Given the description of an element on the screen output the (x, y) to click on. 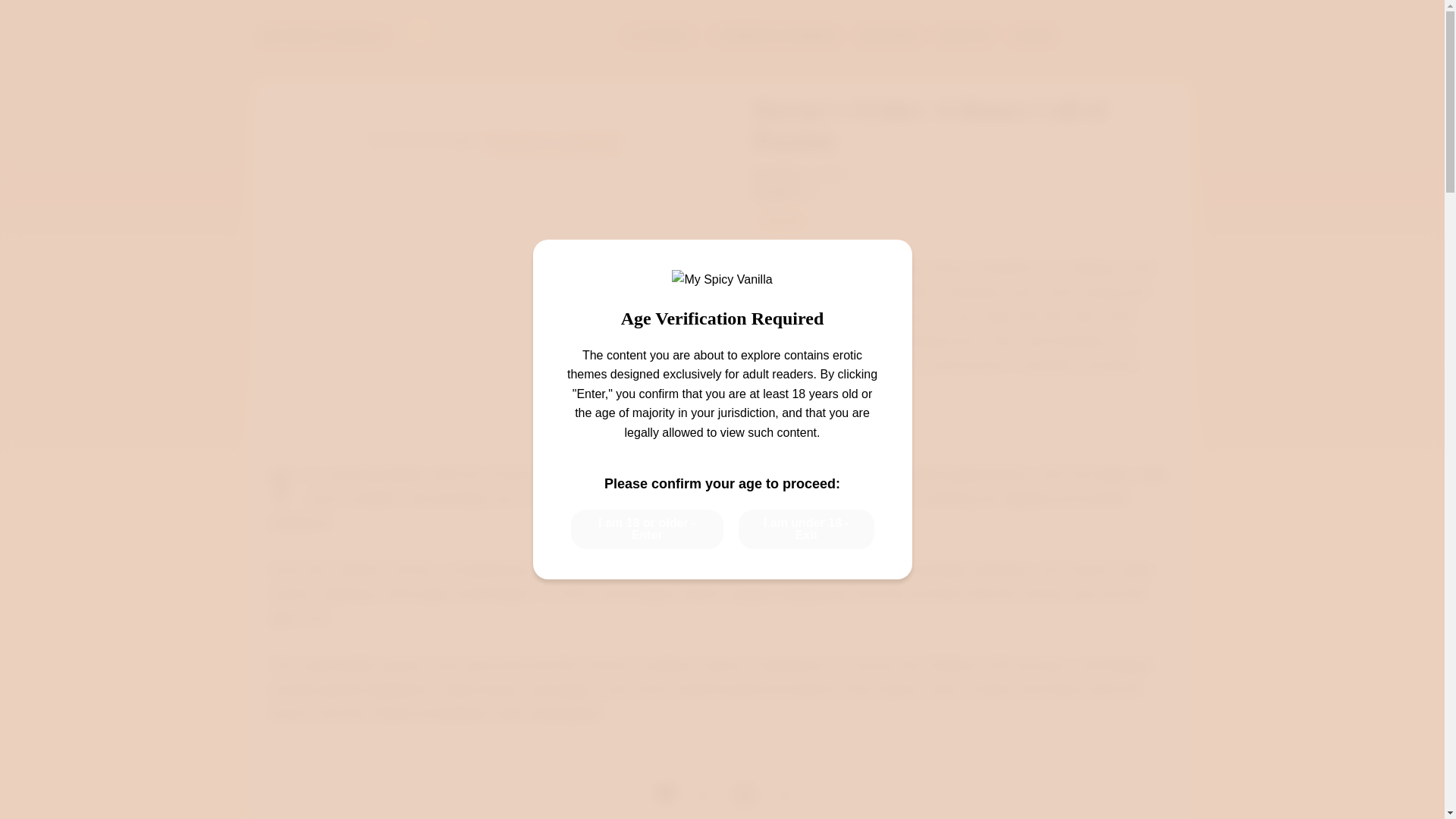
Click here to regenerate (552, 140)
LOGIN (1031, 35)
SIGN UP (964, 35)
Add to favorites (828, 408)
I am under 18 - Exit (805, 528)
REVIEWS (888, 35)
Write a Story (1131, 32)
I am 18 or older - Enter (646, 528)
